Given the description of an element on the screen output the (x, y) to click on. 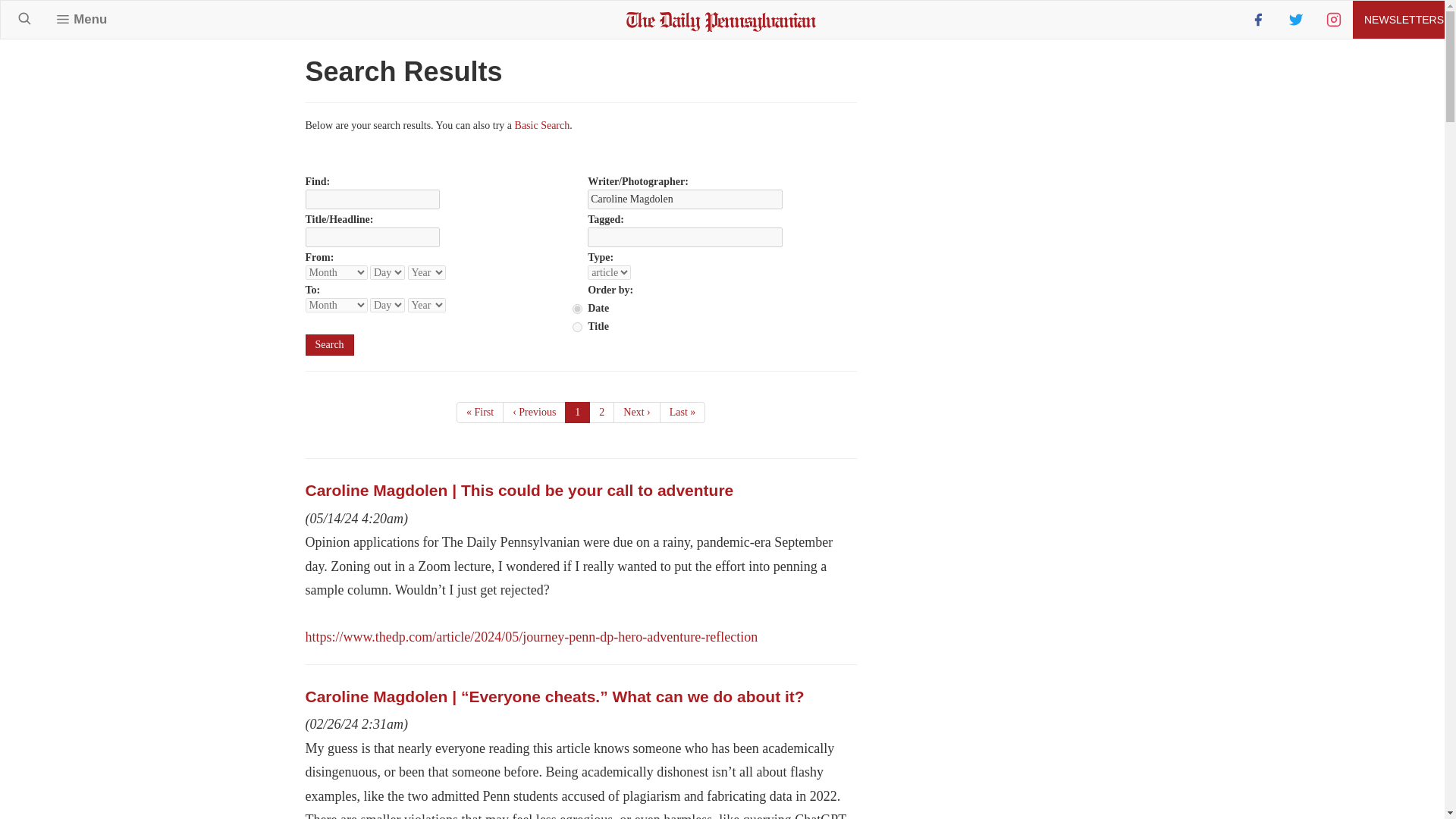
Menu (81, 18)
Caroline Magdolen (685, 199)
Search (328, 344)
title (577, 327)
date (577, 308)
